Given the description of an element on the screen output the (x, y) to click on. 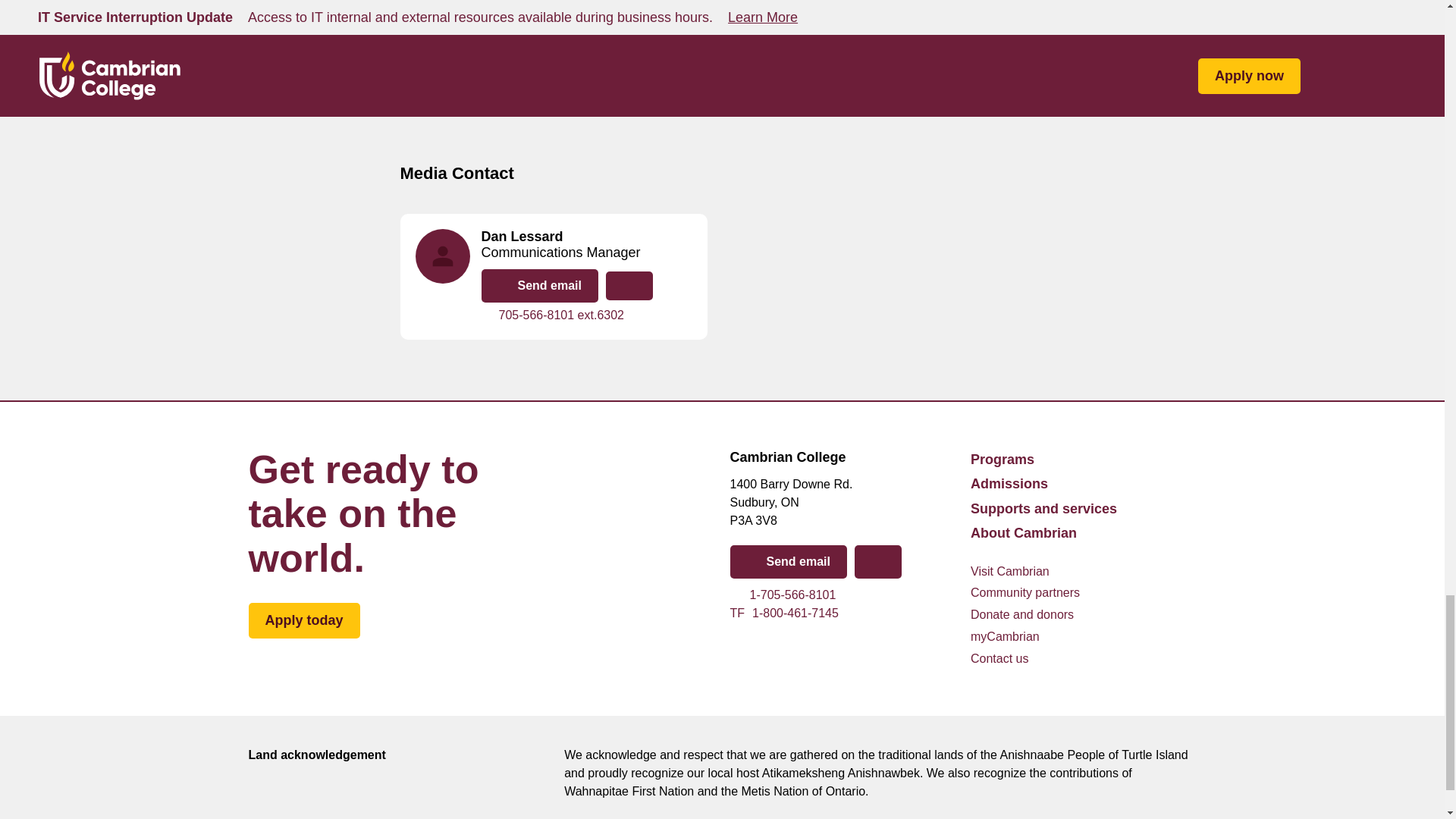
Community partners (1025, 593)
Send email (538, 285)
Contact us (999, 659)
Programs (1002, 459)
Send email (787, 561)
Donate and donors (1022, 615)
Supports and services (1043, 508)
Copy email (628, 285)
Admissions (842, 613)
Apply today (1009, 483)
Copy email (303, 620)
myCambrian (877, 561)
1-705-566-8101 (1005, 637)
About Cambrian (842, 595)
